Given the description of an element on the screen output the (x, y) to click on. 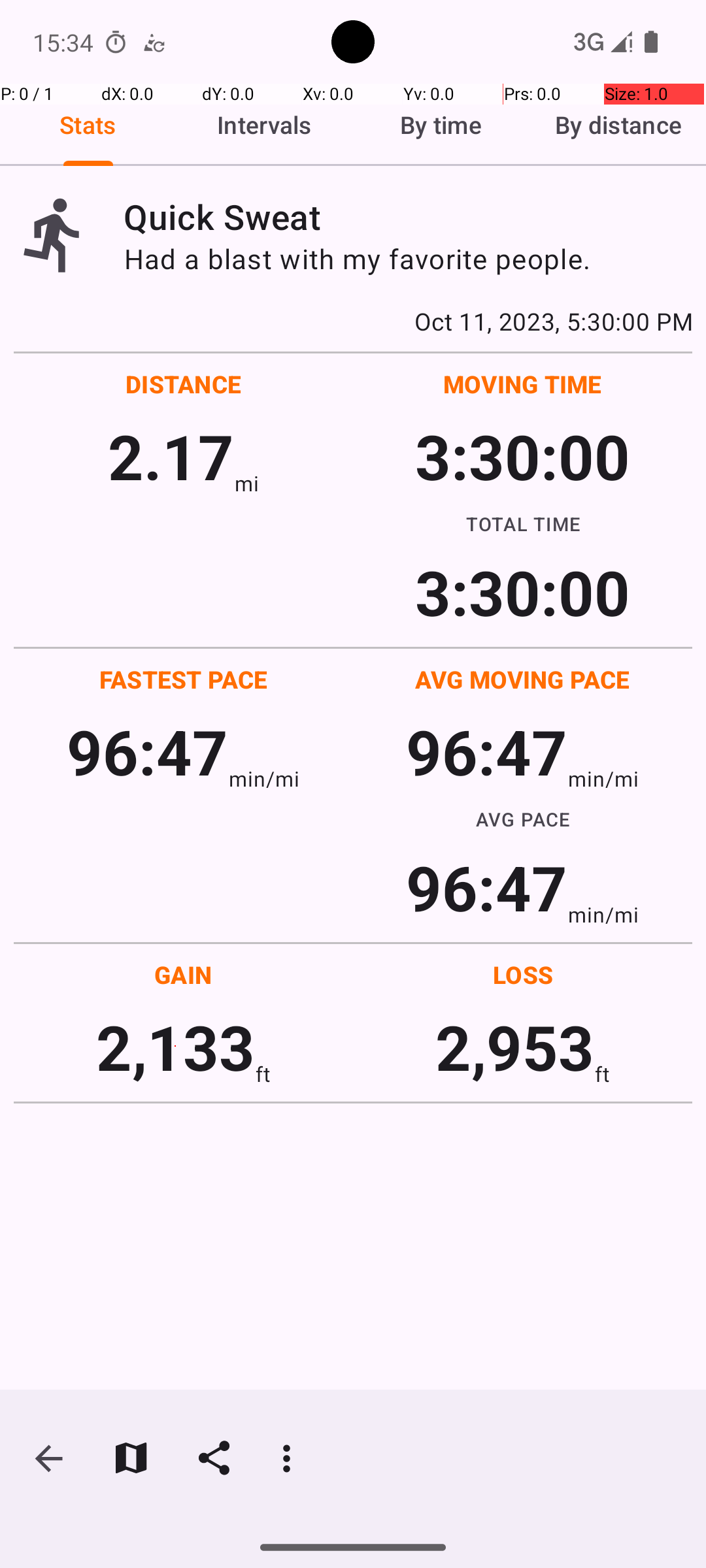
Quick Sweat Element type: android.widget.TextView (407, 216)
Had a blast with my favorite people. Element type: android.widget.TextView (407, 258)
Oct 11, 2023, 5:30:00 PM Element type: android.widget.TextView (352, 320)
2.17 Element type: android.widget.TextView (170, 455)
3:30:00 Element type: android.widget.TextView (522, 455)
96:47 Element type: android.widget.TextView (147, 750)
2,133 Element type: android.widget.TextView (175, 1045)
2,953 Element type: android.widget.TextView (514, 1045)
